Given the description of an element on the screen output the (x, y) to click on. 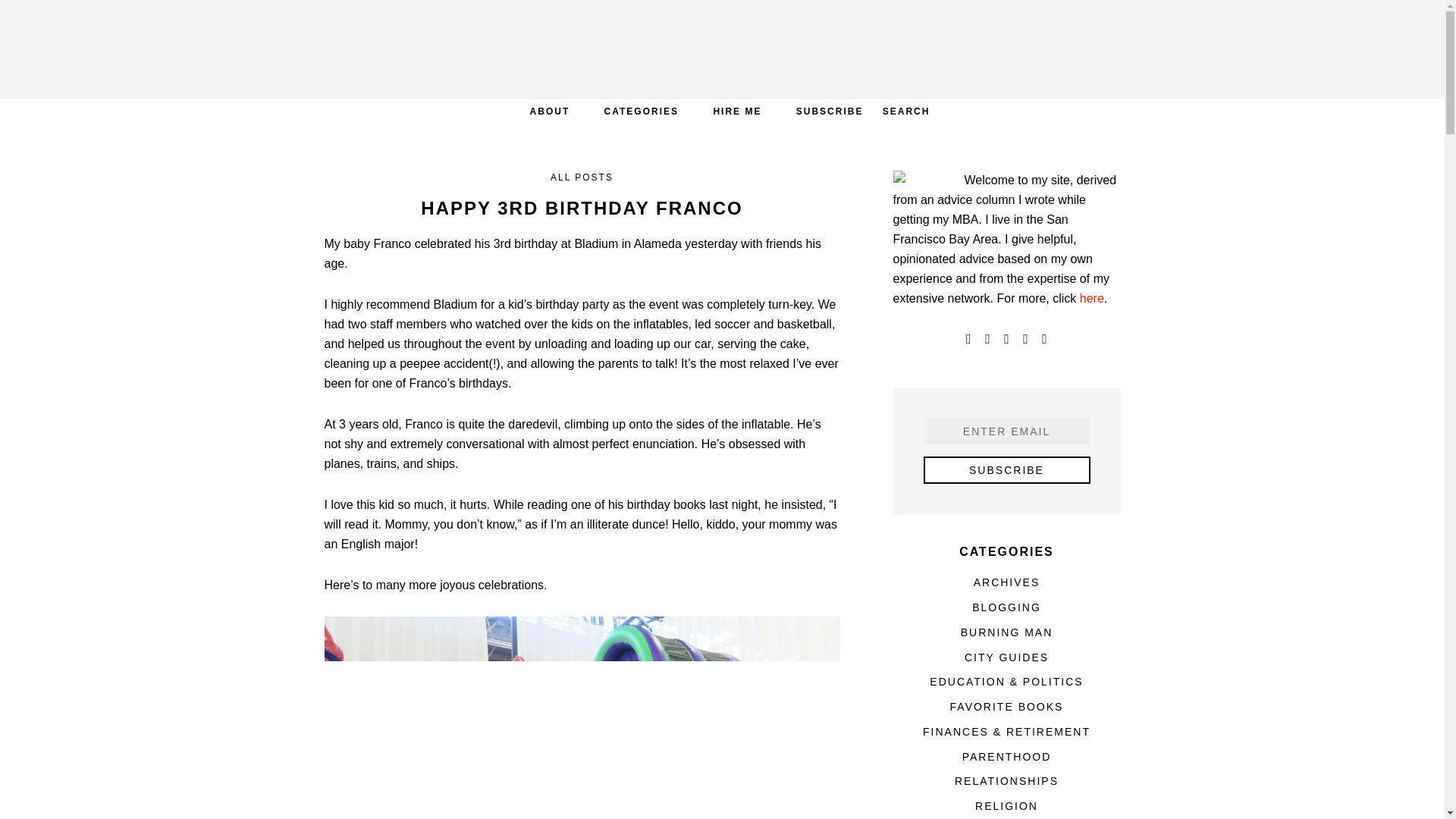
Subscribe (1006, 470)
ABOUT (550, 111)
CATEGORIES (641, 111)
Catherine Gacad (721, 48)
SUBSCRIBE (829, 111)
HIRE ME (736, 111)
ALL POSTS (581, 176)
